Given the description of an element on the screen output the (x, y) to click on. 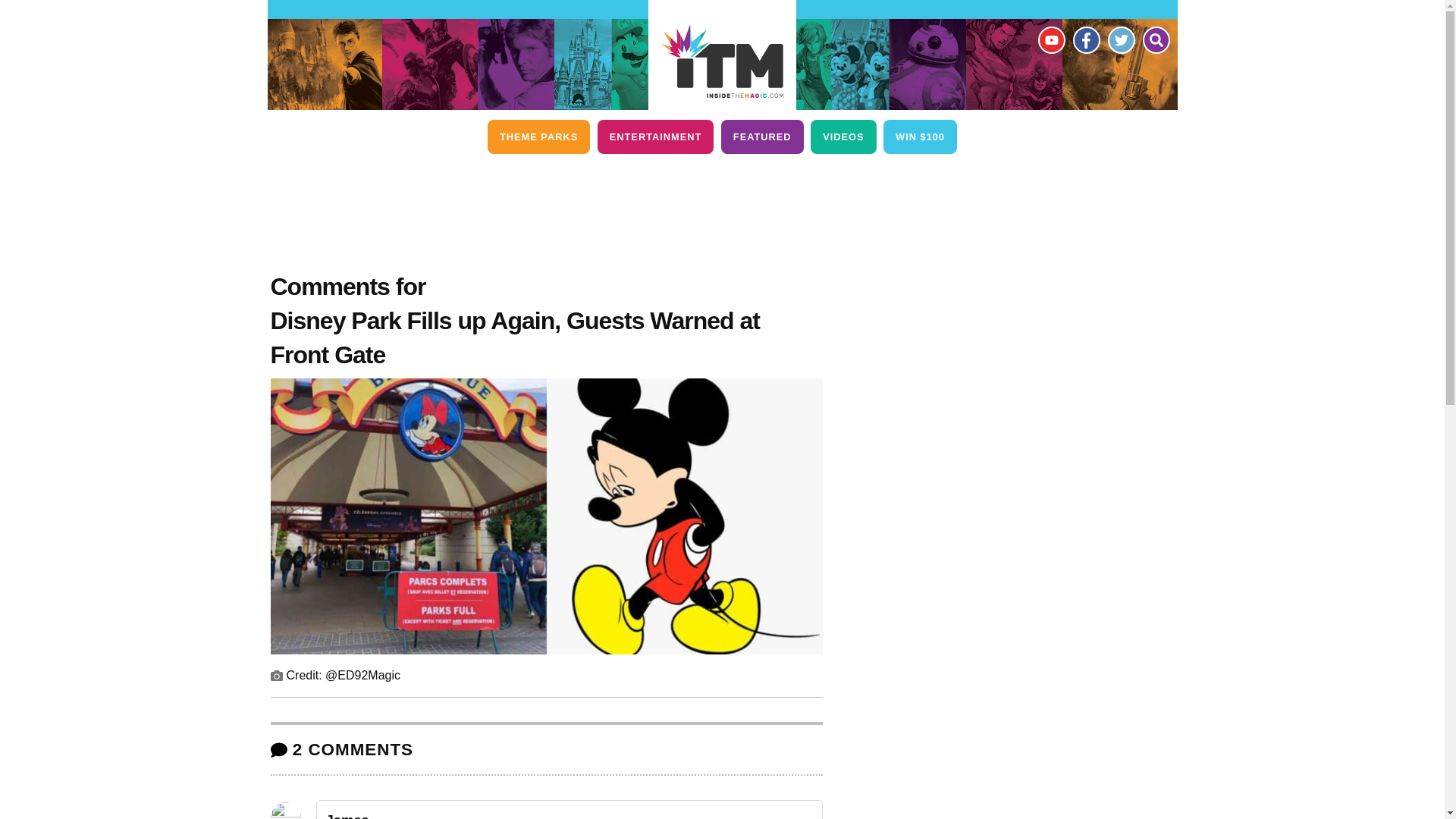
Facebook (1085, 40)
THEME PARKS (538, 136)
Search (1155, 40)
FEATURED (761, 136)
Twitter (1120, 40)
YouTube (1050, 40)
ENTERTAINMENT (655, 136)
